Given the description of an element on the screen output the (x, y) to click on. 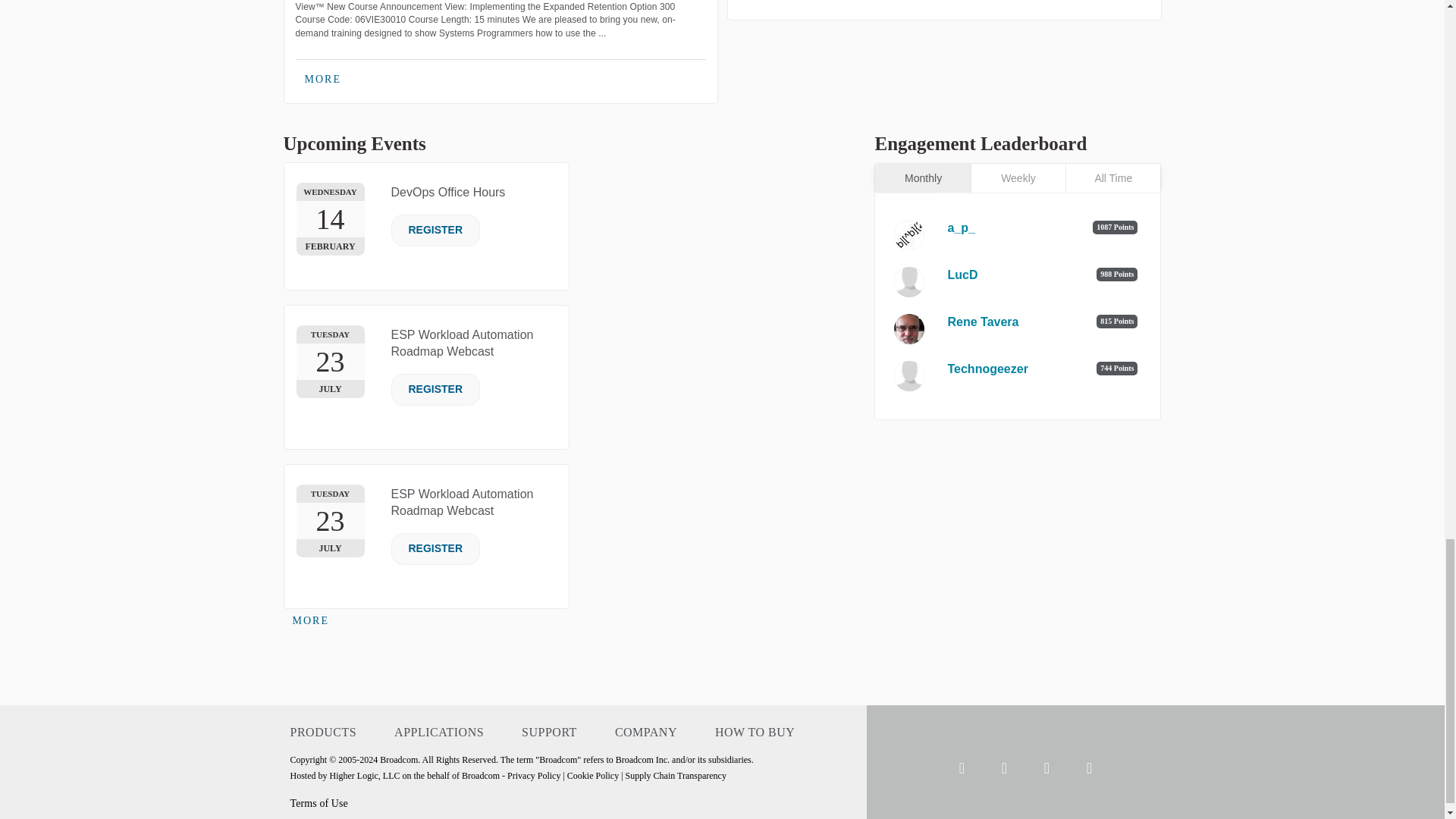
ESP Workload Automation Roadmap Webcast (462, 342)
DevOps Office  Hours (448, 192)
ESP Workload Automation Roadmap Webcast (462, 501)
More (310, 621)
More (322, 79)
